Given the description of an element on the screen output the (x, y) to click on. 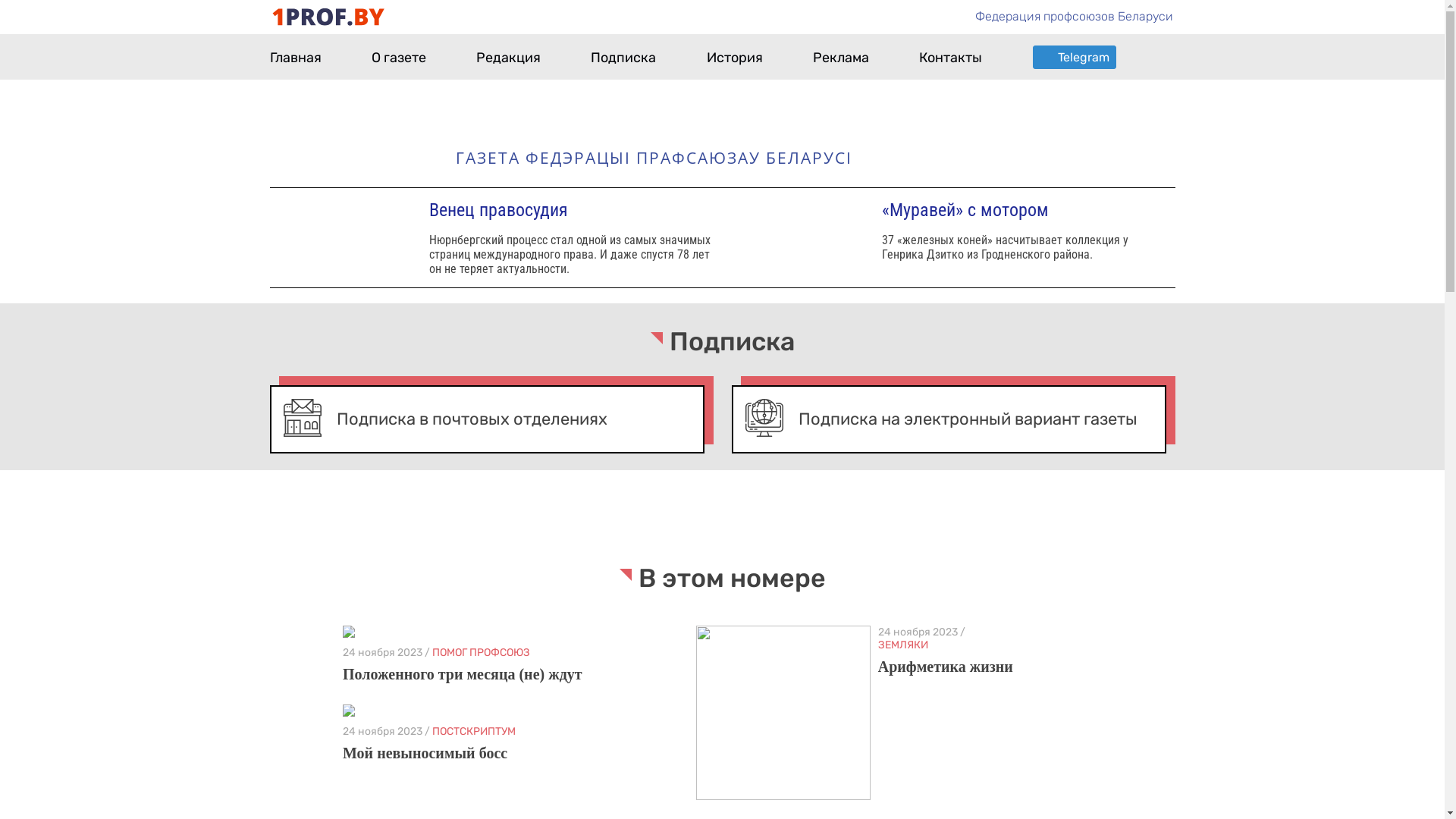
Telegram Element type: text (1074, 57)
